Given the description of an element on the screen output the (x, y) to click on. 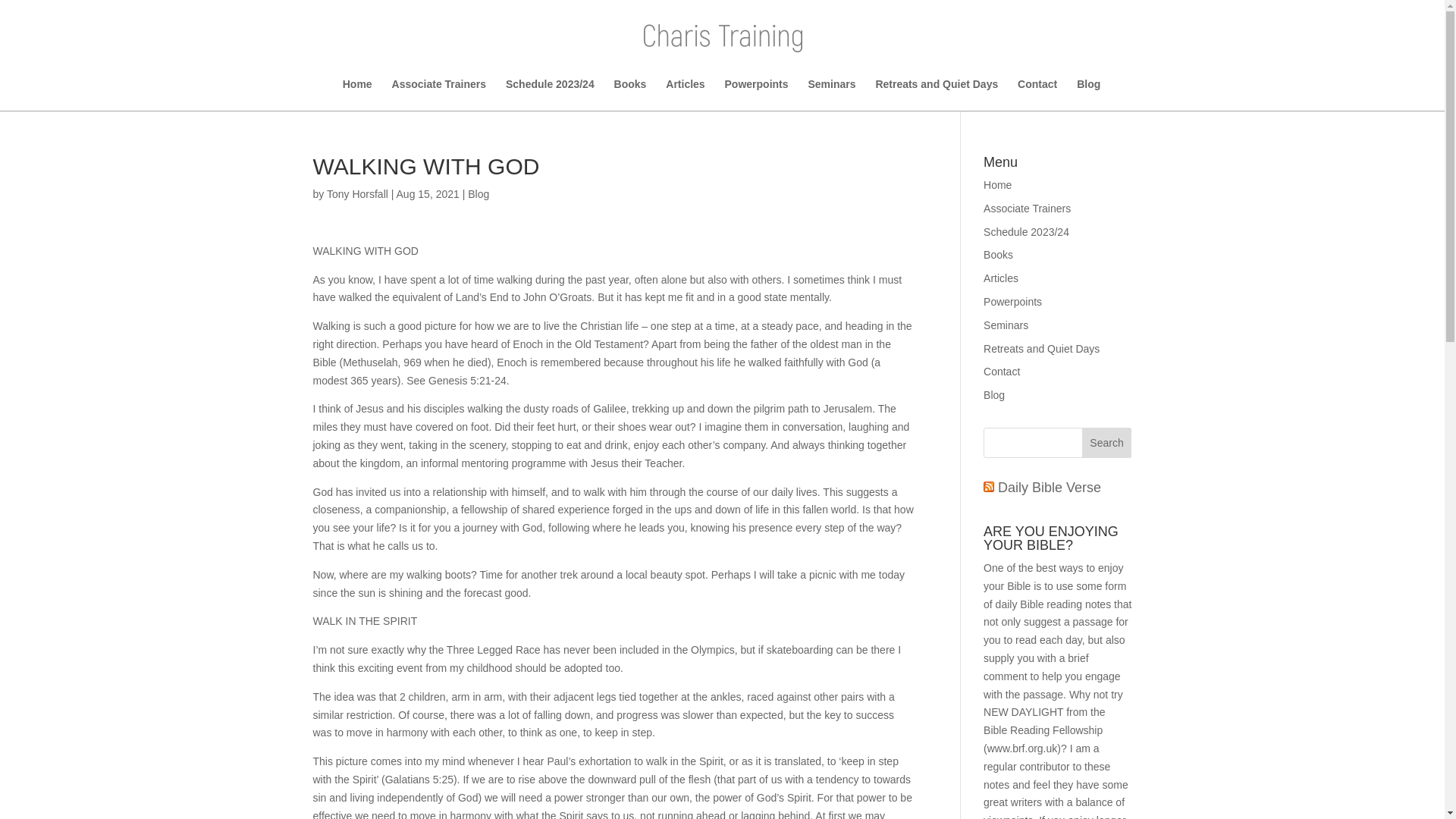
Retreats and Quiet Days (936, 94)
Posts by Tony Horsfall (357, 193)
Seminars (1005, 325)
Home (997, 184)
Books (998, 254)
Seminars (832, 94)
Tony Horsfall (357, 193)
Contact (1002, 371)
Books (630, 94)
Blog (478, 193)
